Given the description of an element on the screen output the (x, y) to click on. 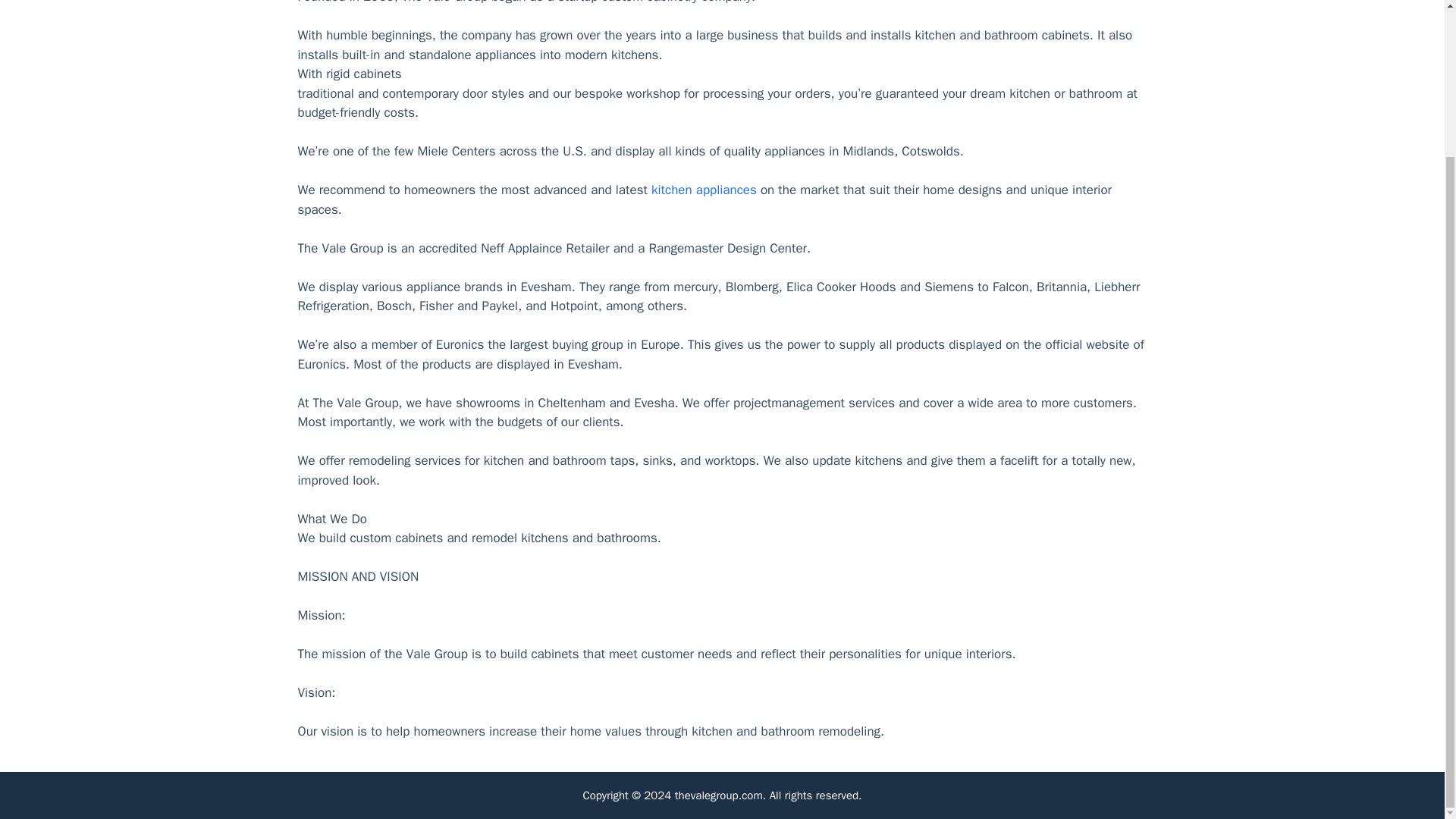
kitchen appliances (703, 189)
